Given the description of an element on the screen output the (x, y) to click on. 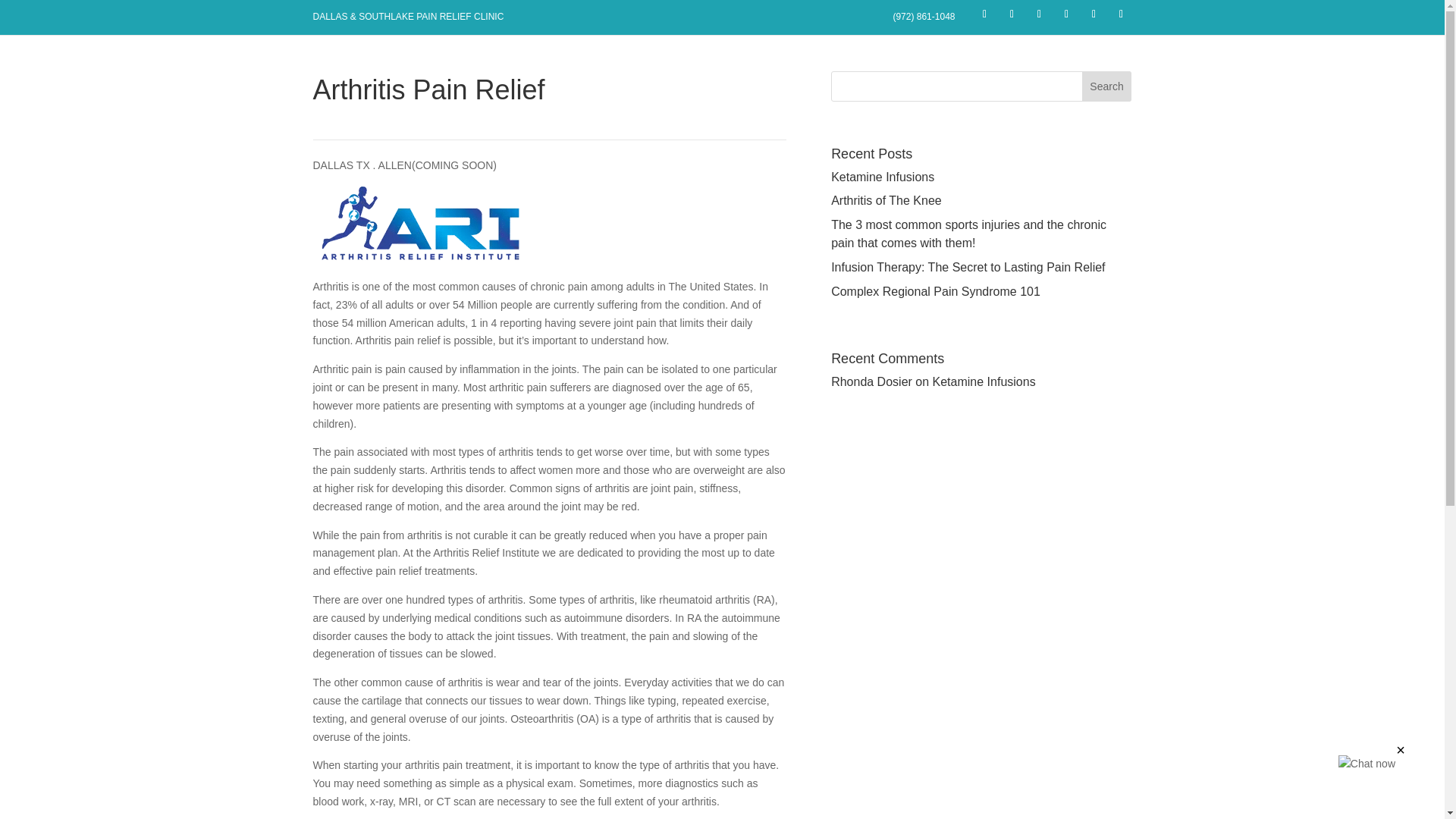
Follow on Instagram (1120, 14)
Follow on Yelp (1066, 14)
Follow on Facebook (974, 14)
Follow on Youtube (1093, 14)
Search (1106, 86)
Follow on X (1011, 14)
Follow on LinkedIn (1038, 14)
